Given the description of an element on the screen output the (x, y) to click on. 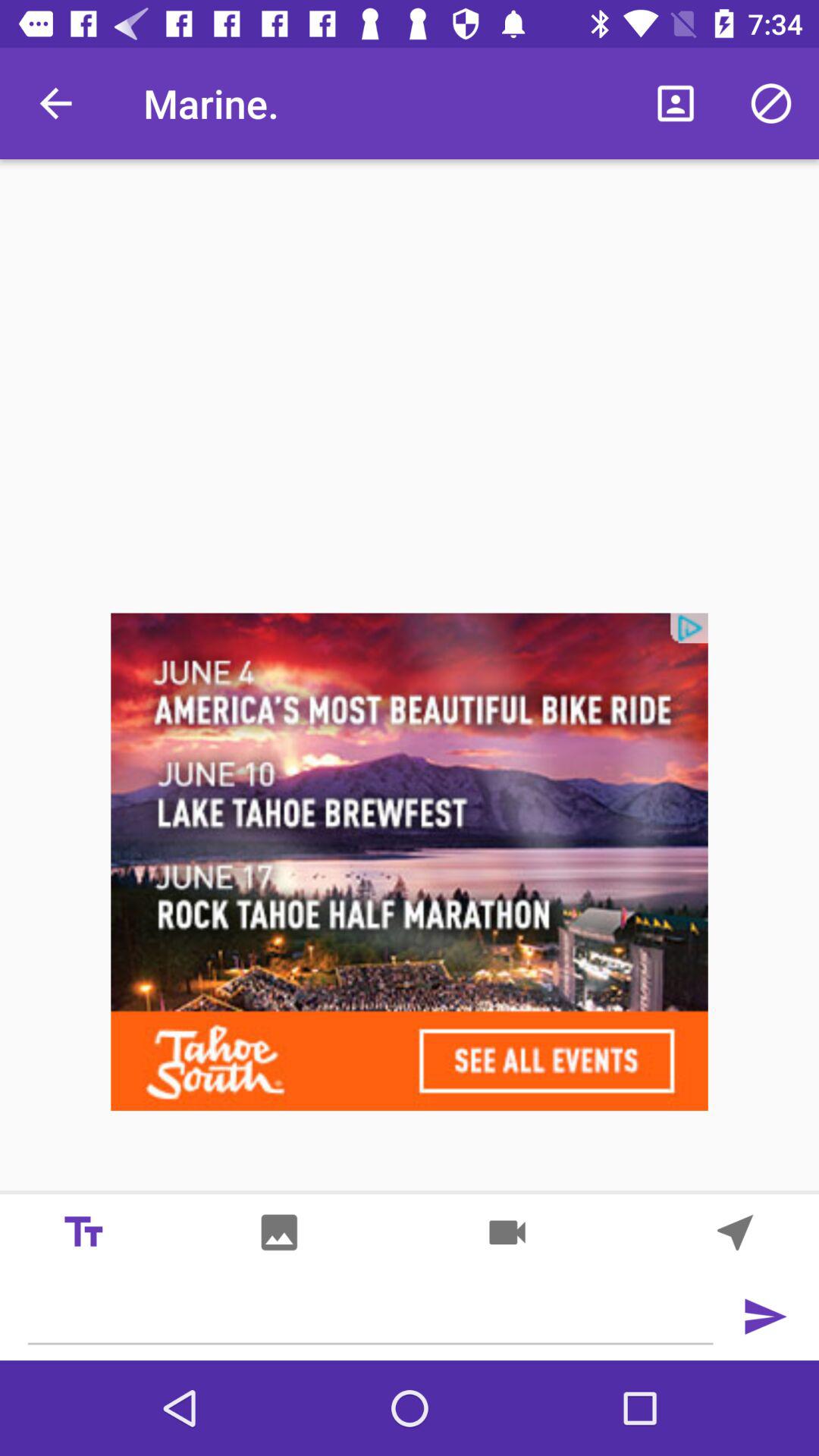
go back (735, 1232)
